Given the description of an element on the screen output the (x, y) to click on. 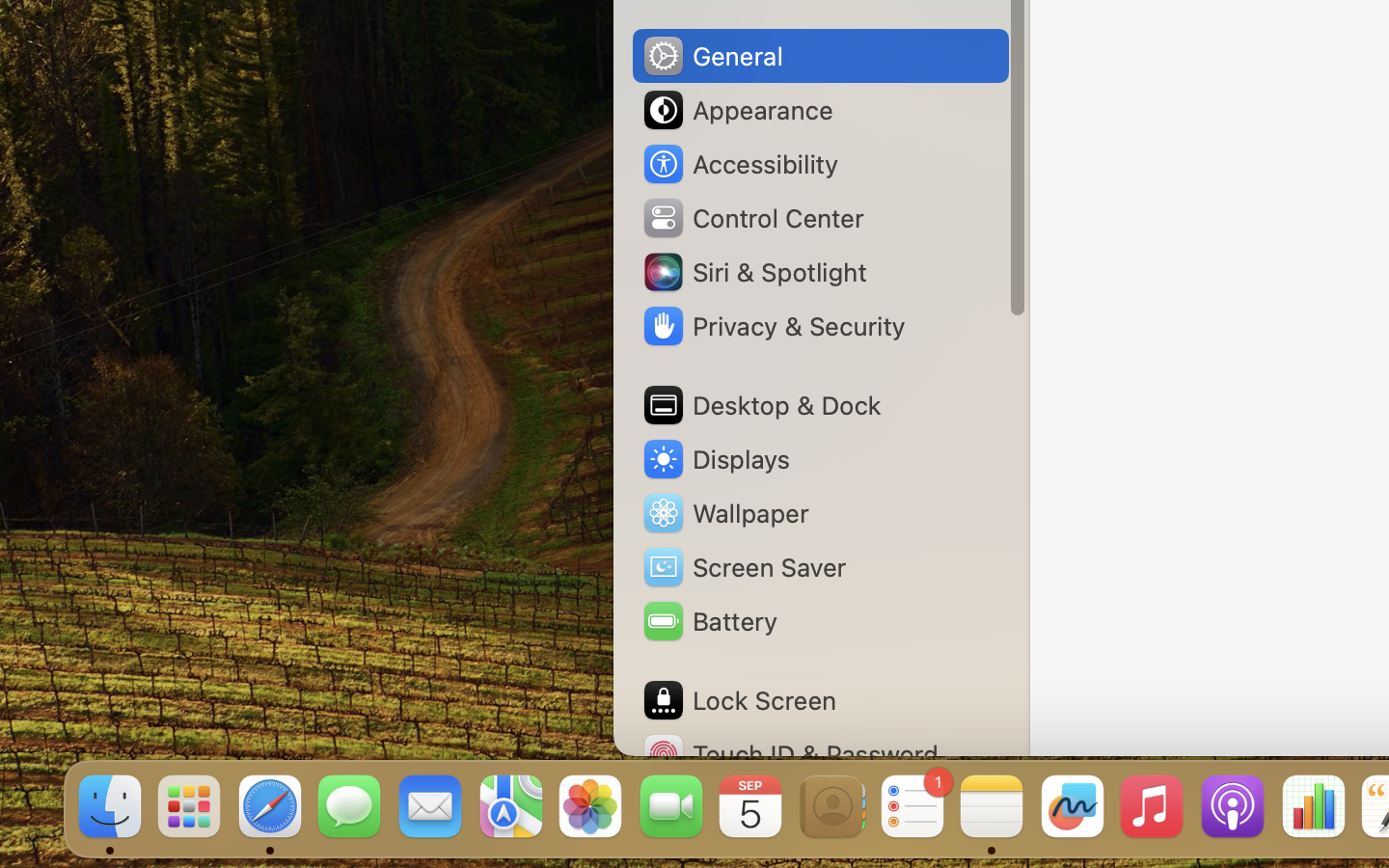
Lock Screen Element type: AXStaticText (738, 700)
Touch ID & Password Element type: AXStaticText (789, 754)
Battery Element type: AXStaticText (708, 620)
Privacy & Security Element type: AXStaticText (772, 325)
Desktop & Dock Element type: AXStaticText (760, 404)
